Given the description of an element on the screen output the (x, y) to click on. 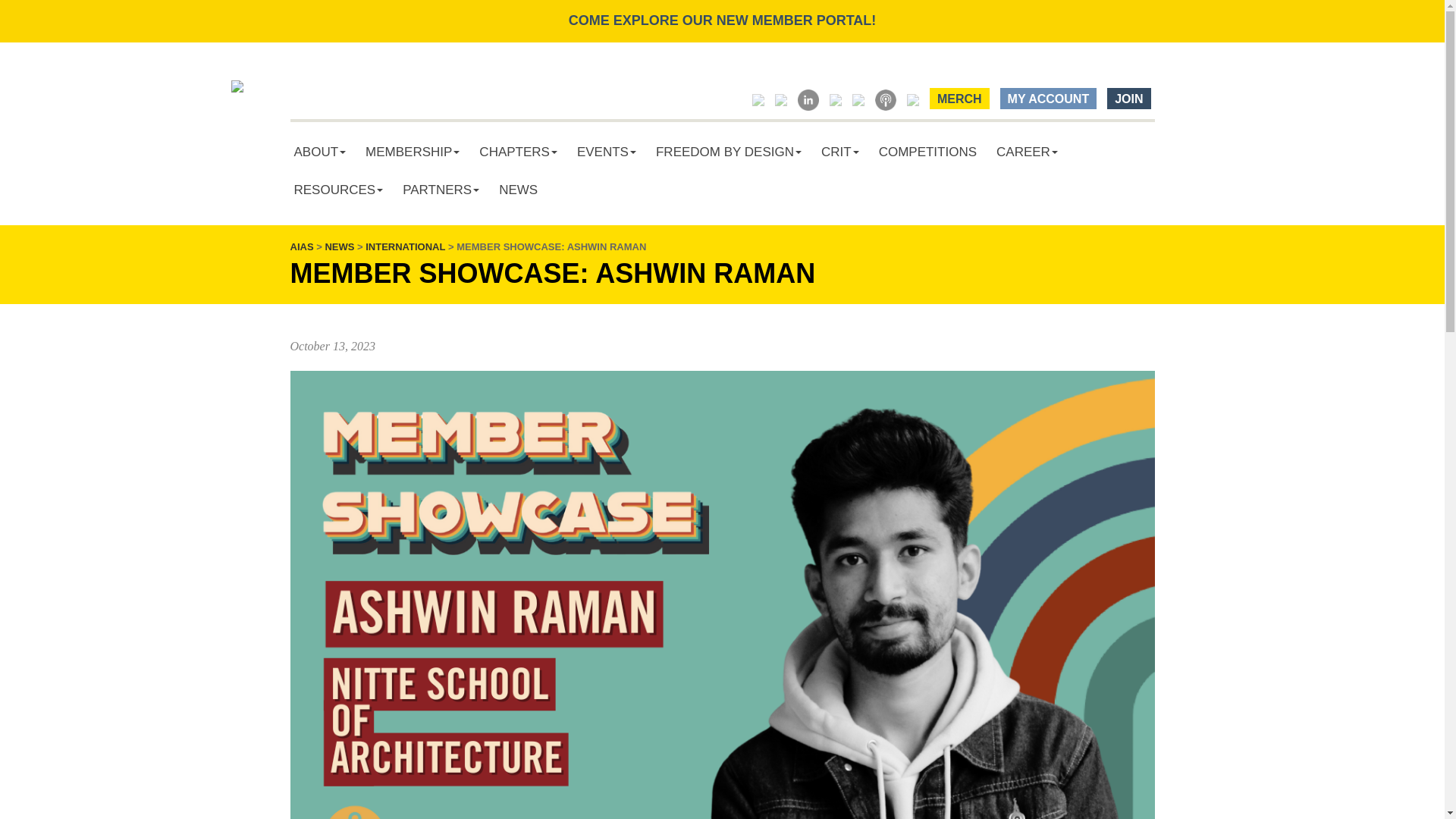
ABOUT (319, 152)
MEMBERSHIP (411, 152)
JOIN (1128, 97)
Go to the International Quads archives. (405, 246)
Go to News. (338, 246)
MERCH (960, 97)
COME EXPLORE OUR NEW MEMBER PORTAL! (722, 20)
MY ACCOUNT (1048, 97)
CHAPTERS (518, 152)
Go to AIAS. (301, 246)
